Given the description of an element on the screen output the (x, y) to click on. 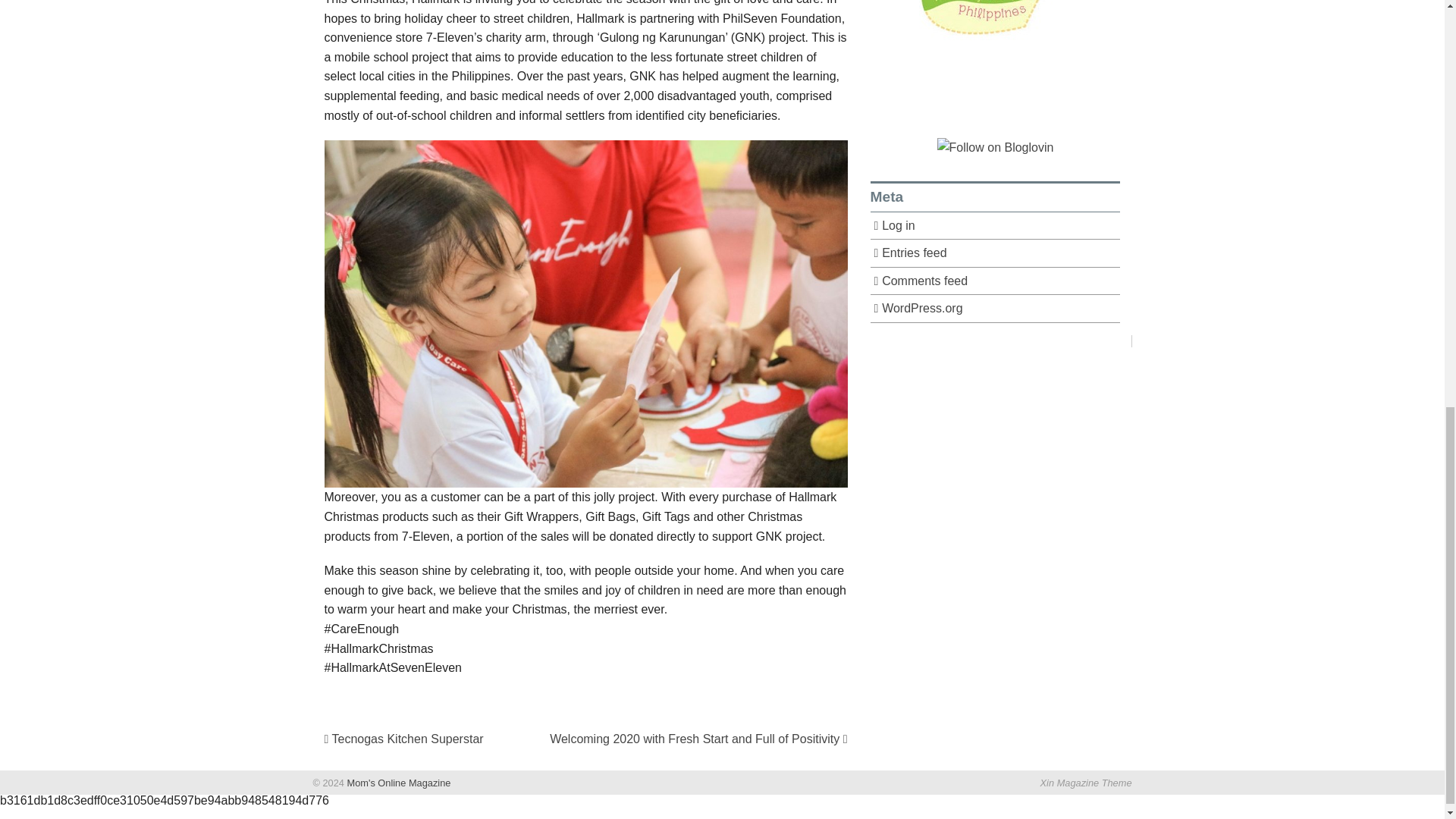
Comments feed (995, 281)
Welcoming 2020 with Fresh Start and Full of Positivity (698, 738)
Tecnogas Kitchen Superstar (403, 738)
Mom's Online Magazine (396, 782)
Follow Mom's Online Magazine on Bloglovin (995, 146)
Entries feed (995, 253)
Log in (995, 226)
Xin Magazine Theme (1086, 782)
WordPress.org (995, 308)
Mom's Online Magazine (396, 782)
